Given the description of an element on the screen output the (x, y) to click on. 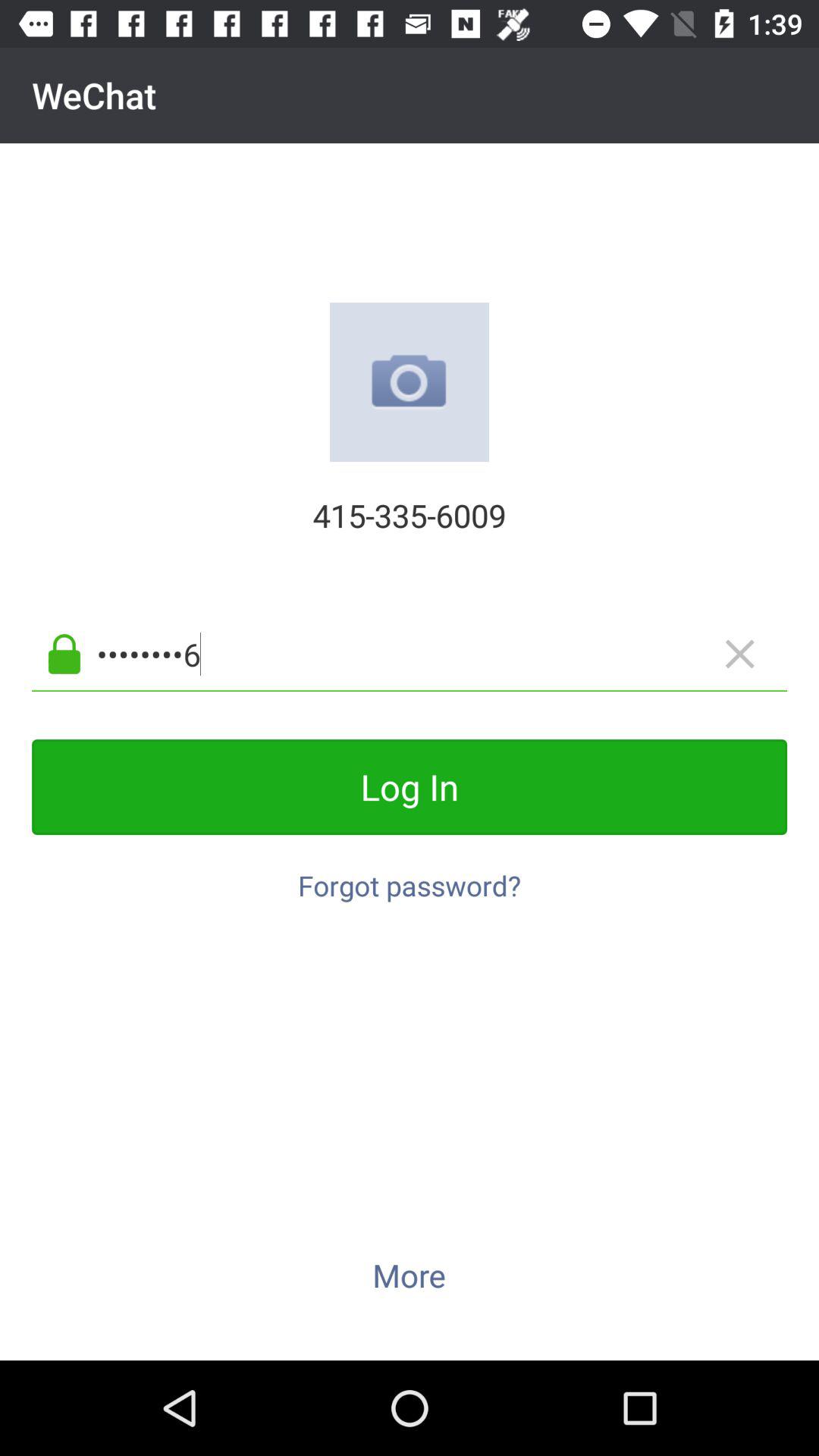
open the app below 415-335-6009 item (433, 653)
